Given the description of an element on the screen output the (x, y) to click on. 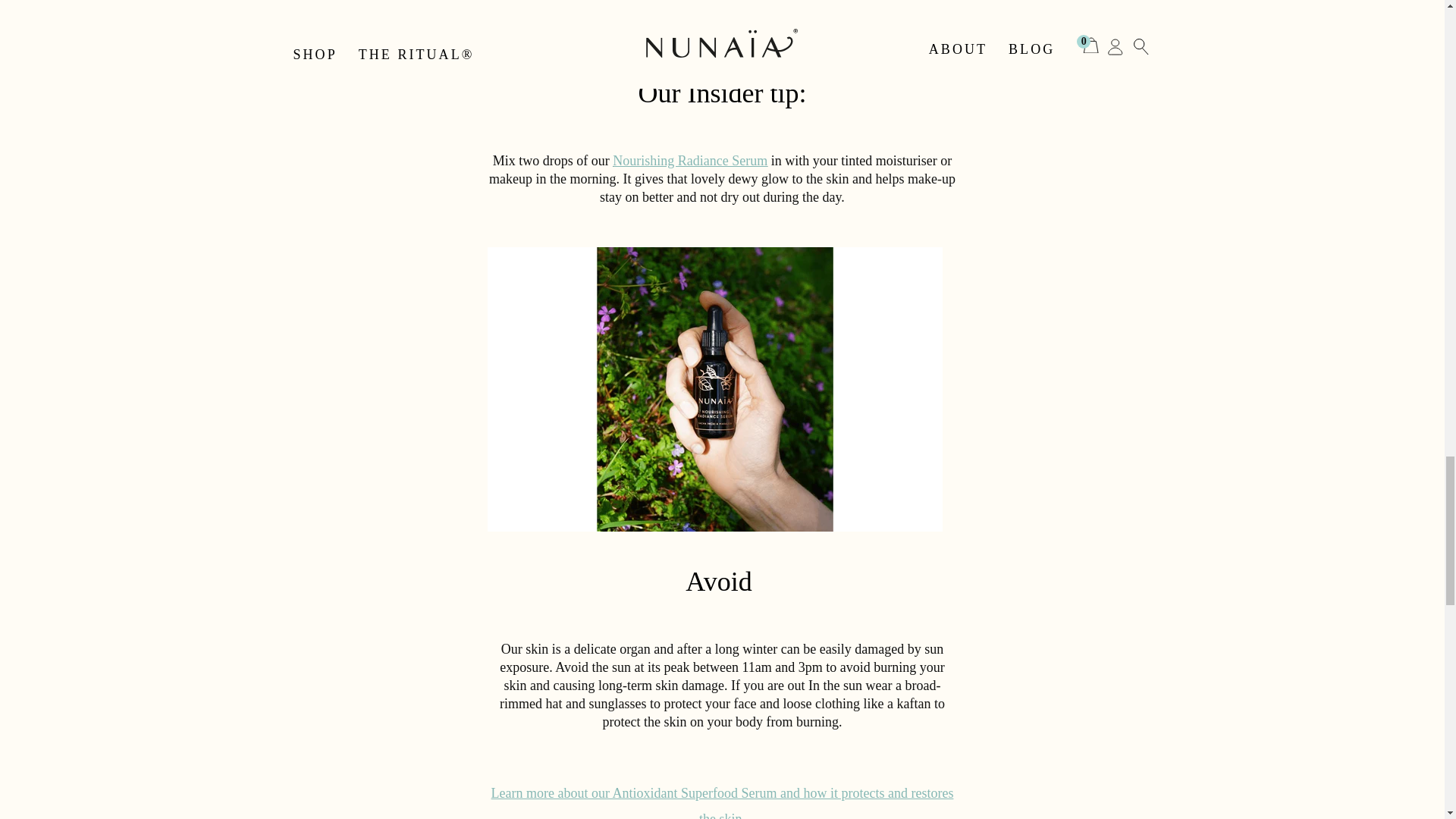
Nunaia Beauty Nourishing Radiance Serum (786, 19)
Nunaia Beauty Superfood Cleansing Balm (599, 19)
Nunaia Nourishing Radiance Serum (722, 802)
Nunaia Nourishing Radiance Serum (689, 160)
